Given the description of an element on the screen output the (x, y) to click on. 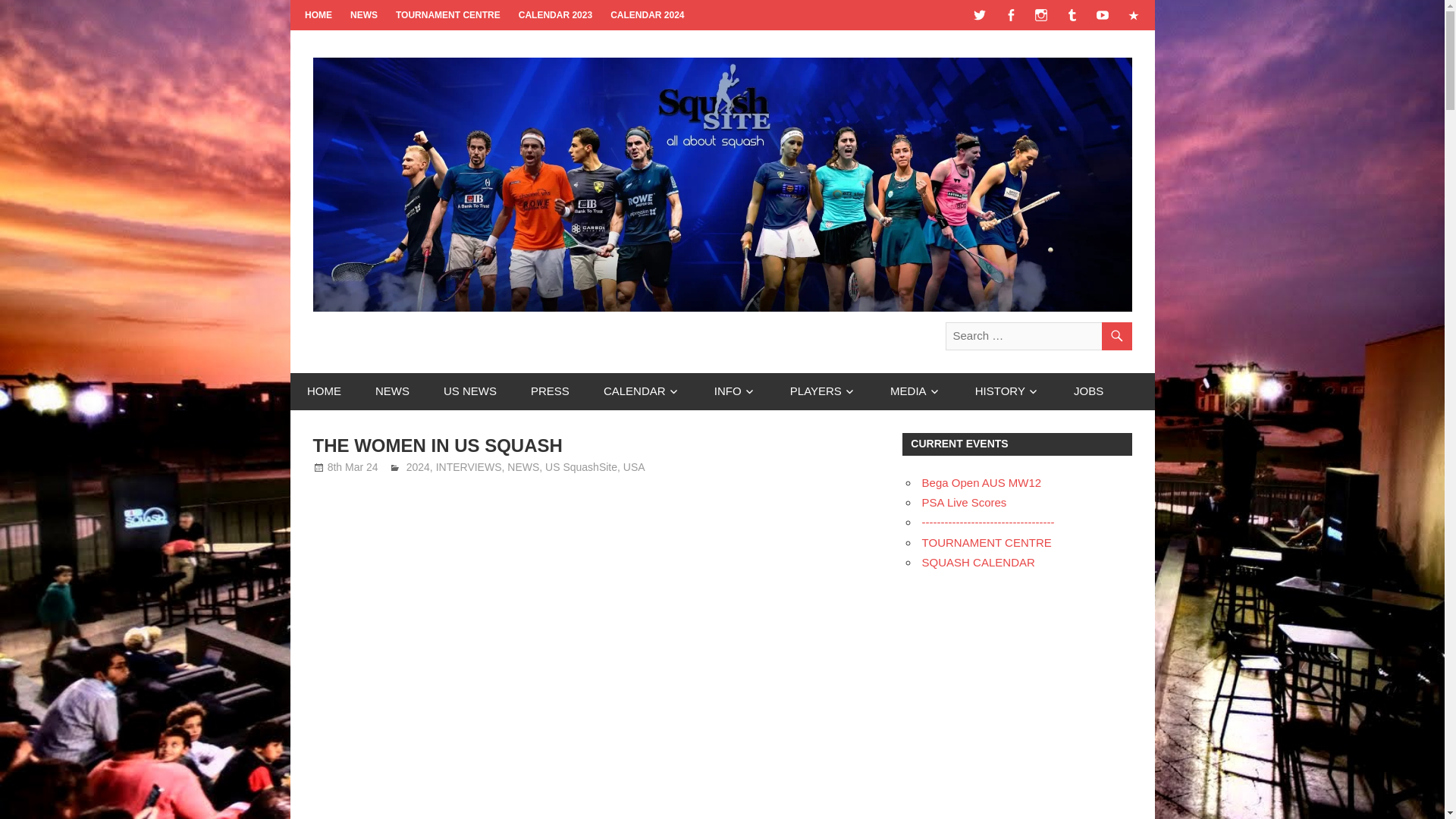
PLAYERS (822, 391)
NEWS (392, 391)
CALENDAR (641, 391)
INFO (735, 391)
09:45 (352, 467)
HOME (317, 15)
NEWS (363, 15)
CALENDAR 2023 (555, 15)
US NEWS (469, 391)
CALENDAR 2024 (647, 15)
HOME (323, 391)
PRESS (549, 391)
TOURNAMENT CENTRE (448, 15)
View all posts by Framboise Gommendy (459, 467)
Search for: (1037, 336)
